Given the description of an element on the screen output the (x, y) to click on. 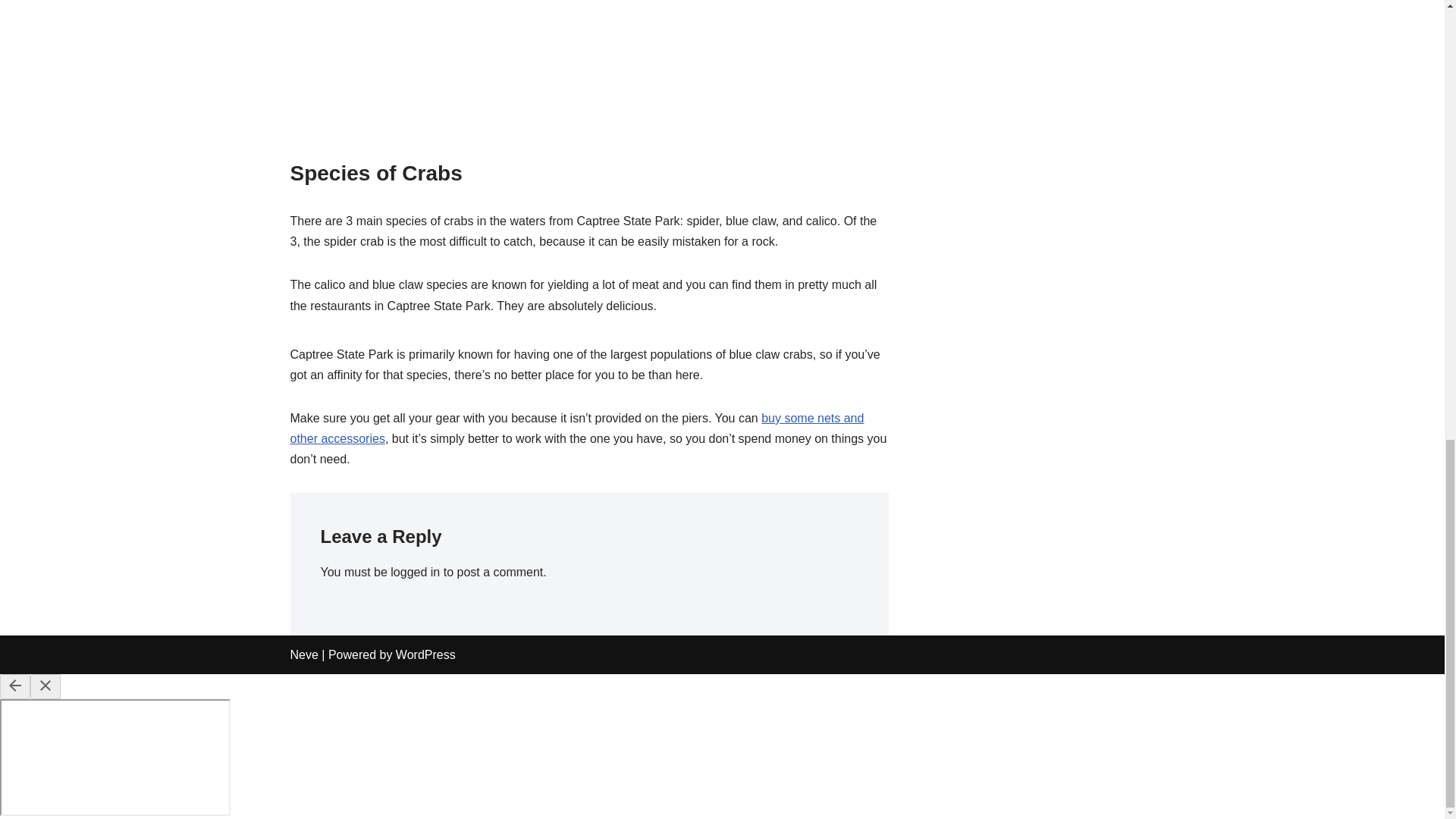
Crabbing the fun way. At Captree State Park Long Island (588, 79)
